Given the description of an element on the screen output the (x, y) to click on. 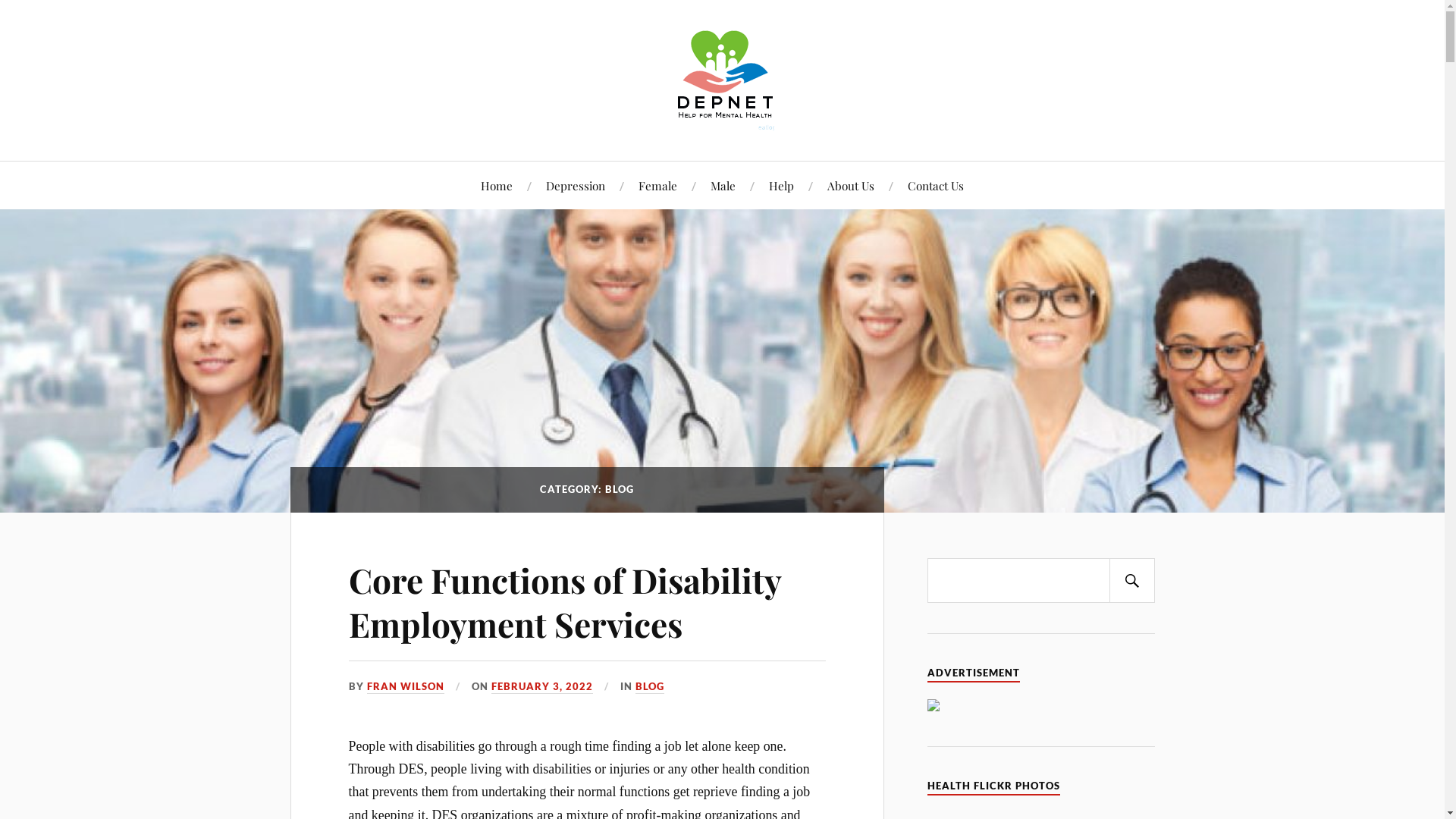
FEBRUARY 3, 2022 Element type: text (542, 686)
FRAN WILSON Element type: text (405, 686)
Core Functions of Disability Employment Services Element type: text (564, 601)
Home Element type: text (496, 185)
Contact Us Element type: text (935, 185)
Help Element type: text (780, 185)
Female Element type: text (657, 185)
Depression Element type: text (575, 185)
BLOG Element type: text (649, 686)
About Us Element type: text (850, 185)
Male Element type: text (722, 185)
